Given the description of an element on the screen output the (x, y) to click on. 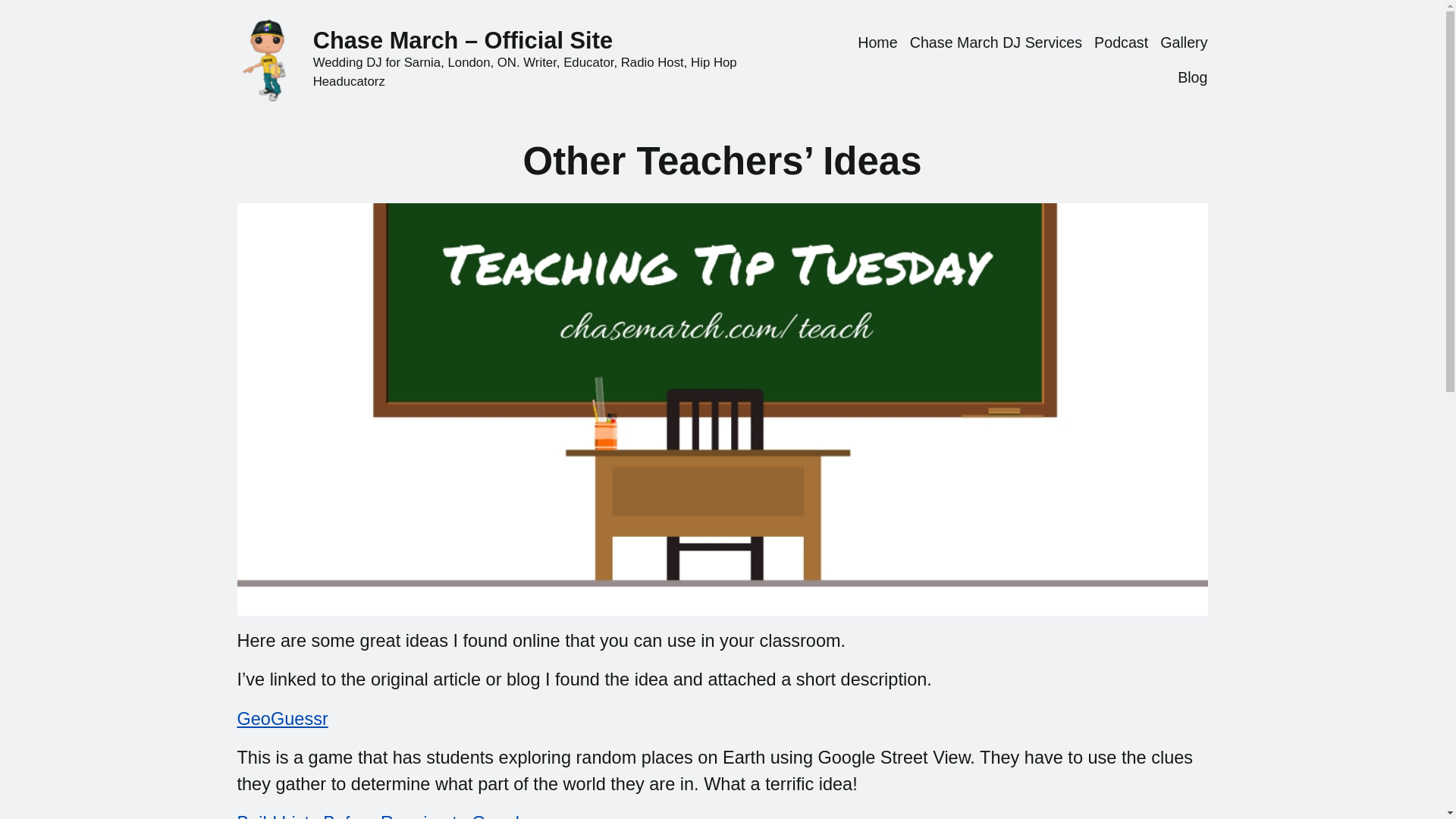
Build Lists Before Running to Google (382, 816)
Chase March DJ Services (995, 42)
GeoGuessr (281, 718)
Blog (1192, 77)
Gallery (1183, 42)
Home (876, 42)
Podcast (1121, 42)
